Given the description of an element on the screen output the (x, y) to click on. 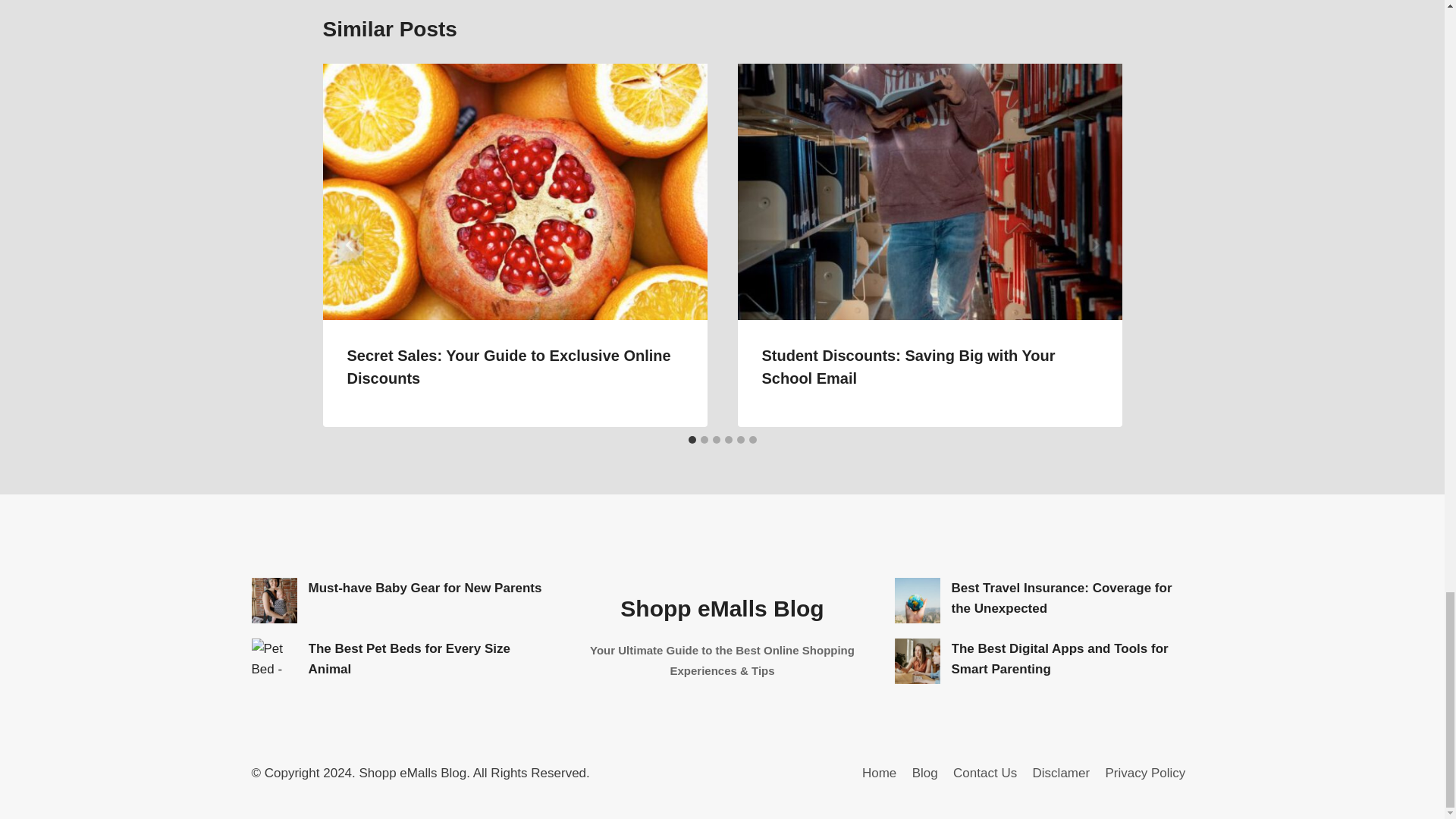
The Best Pet Beds for Every Size Animal (274, 660)
The Best Digital Apps and Tools for Smart Parenting (917, 660)
Must-have Baby Gear for New Parents (274, 600)
Best Travel Insurance: Coverage for the Unexpected (917, 600)
